Given the description of an element on the screen output the (x, y) to click on. 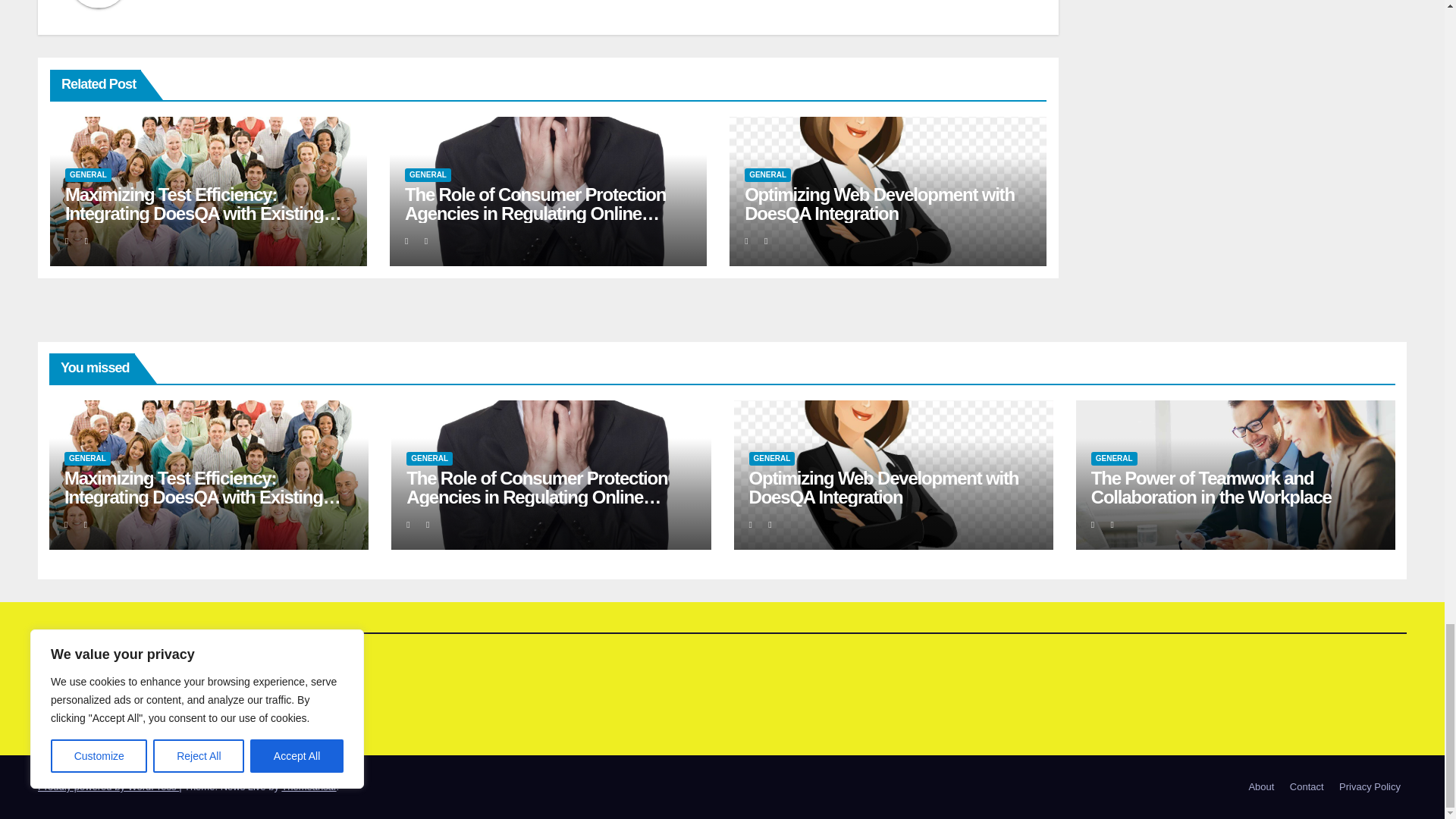
Contact (1307, 786)
About (1260, 786)
Privacy Policy (1369, 786)
